Given the description of an element on the screen output the (x, y) to click on. 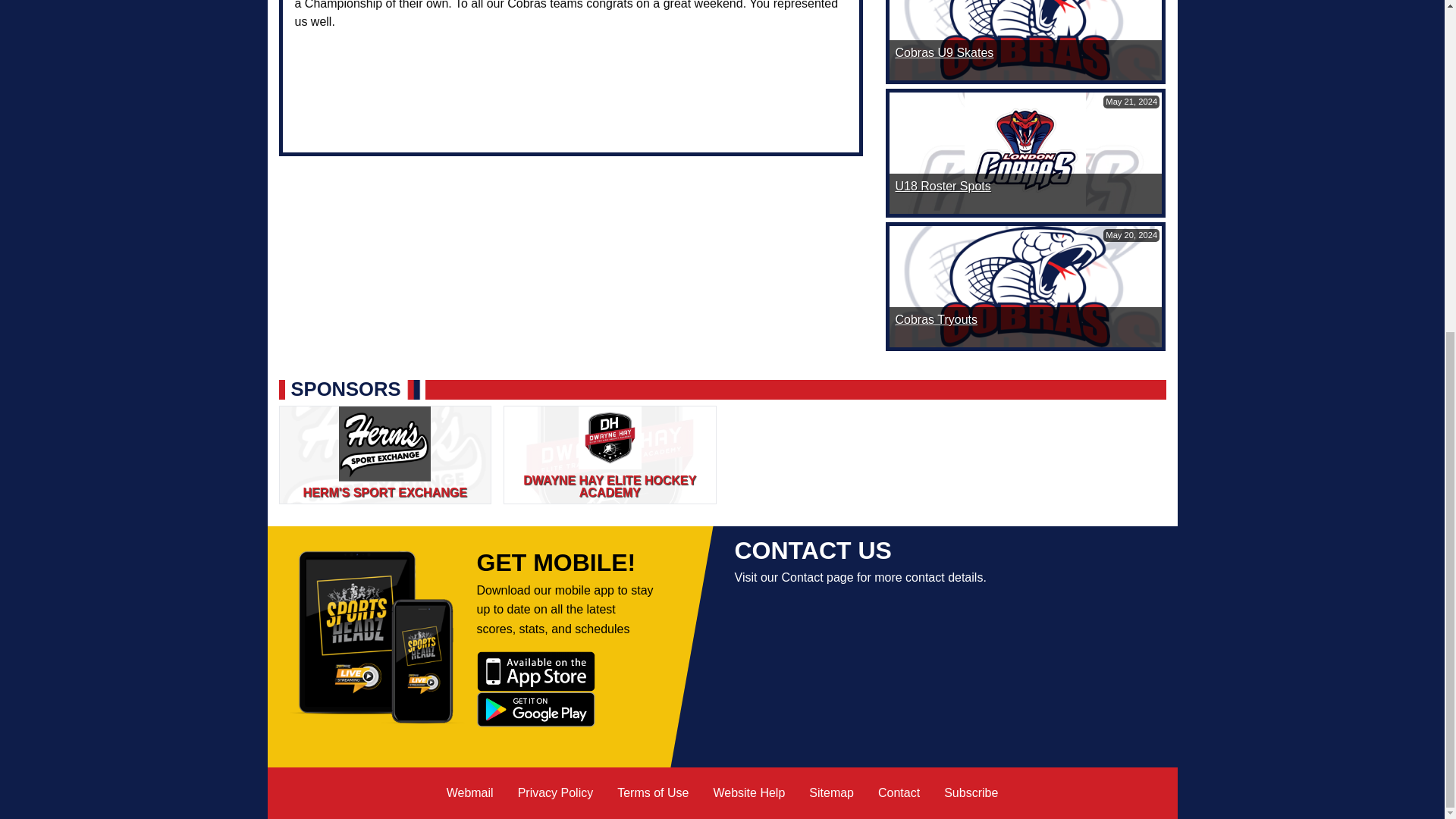
read more of this item (942, 185)
Download the Sportsheadz App from the Google Play Store (535, 707)
U18 Roster Spots (942, 185)
Cobras Tryouts (935, 318)
read more of this item (935, 318)
read more of this item (943, 51)
Download the Sportsheadz App from the Apple App Store (535, 669)
Cobras U9 Skates (943, 51)
